Given the description of an element on the screen output the (x, y) to click on. 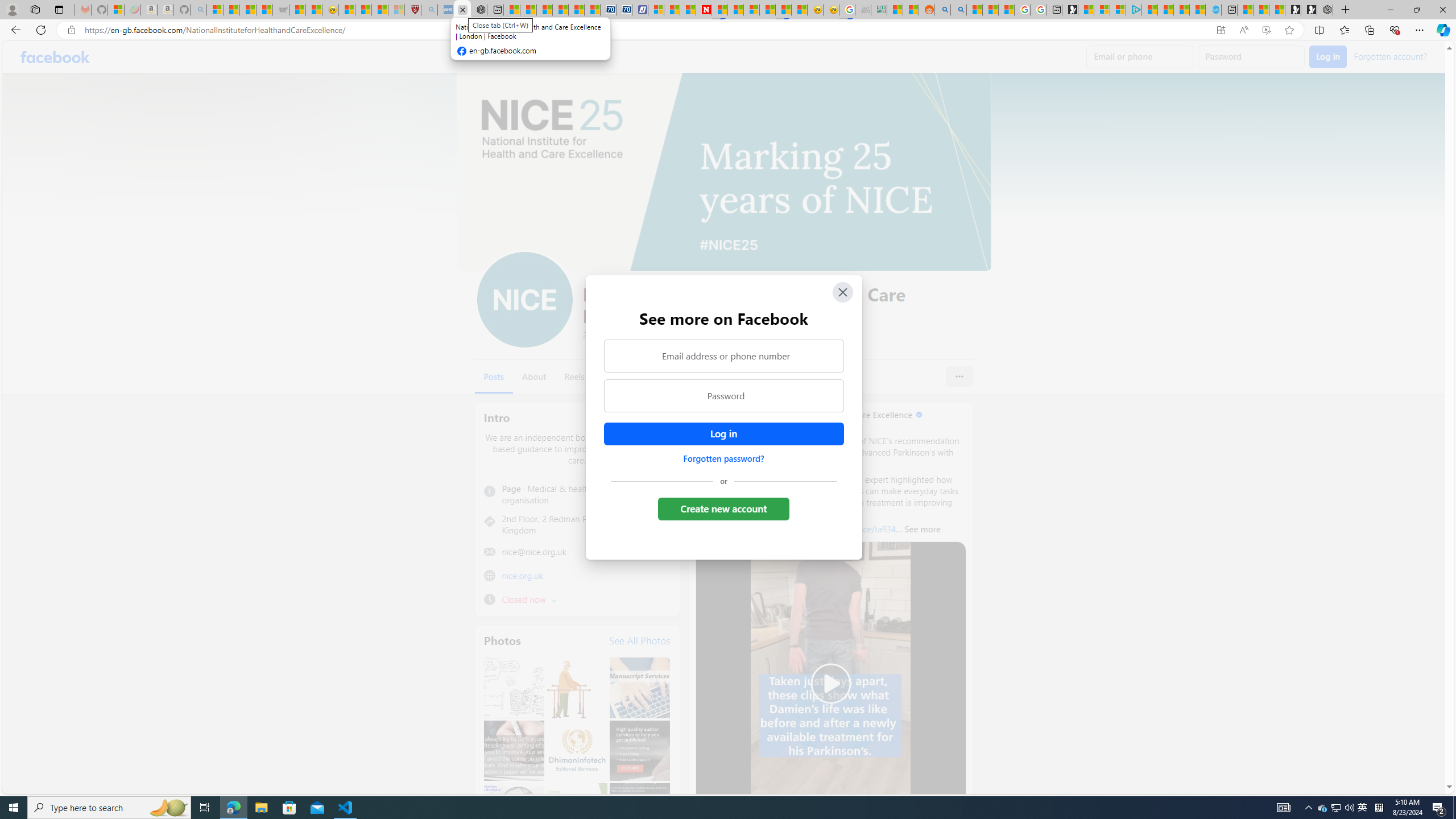
Cheap Car Rentals - Save70.com (608, 9)
Accessible login button (723, 433)
